Given the description of an element on the screen output the (x, y) to click on. 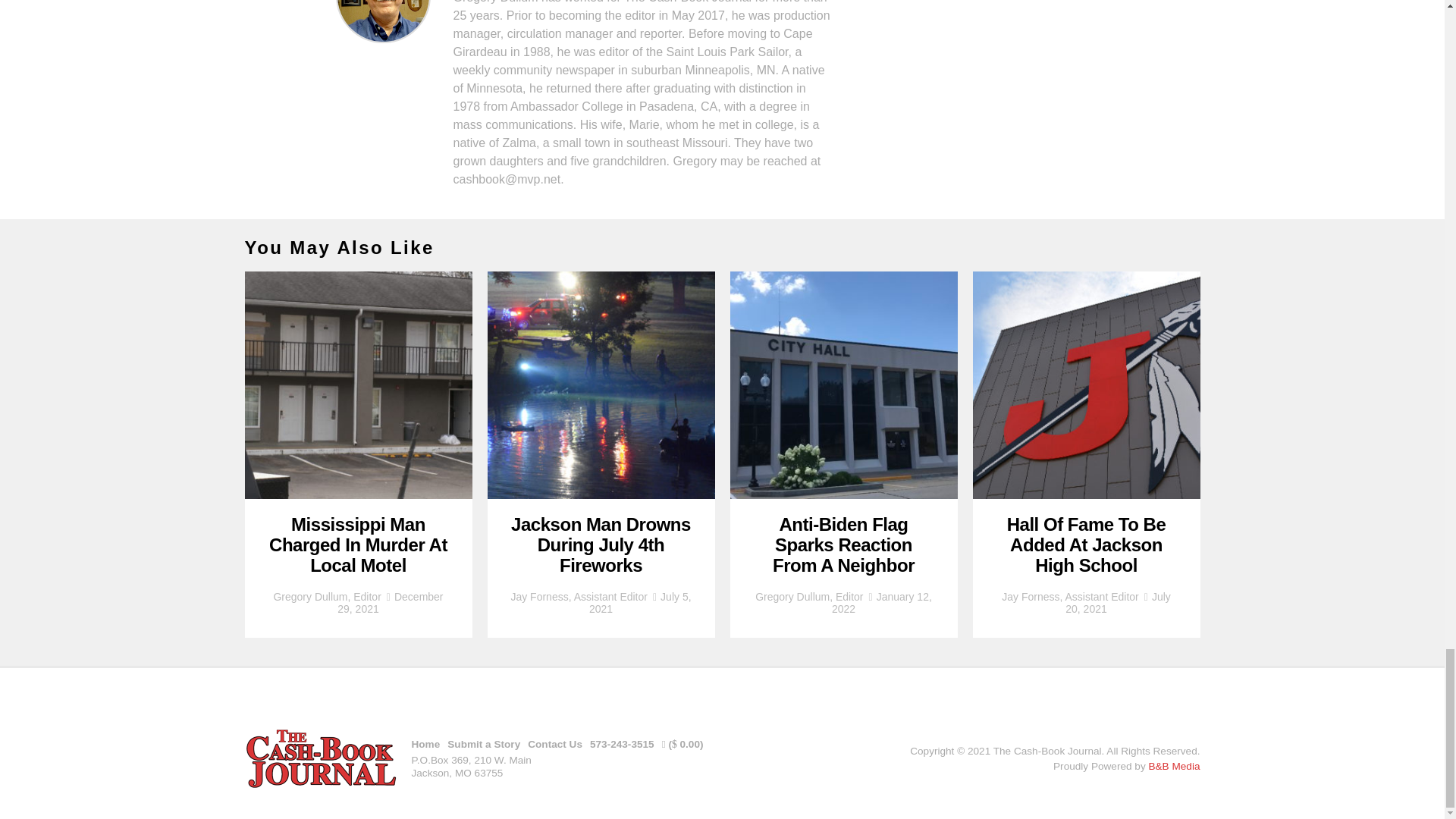
Posts by Jay Forness, Assistant Editor (579, 596)
Posts by Gregory Dullum, Editor (809, 596)
Posts by Gregory Dullum, Editor (326, 596)
